Given the description of an element on the screen output the (x, y) to click on. 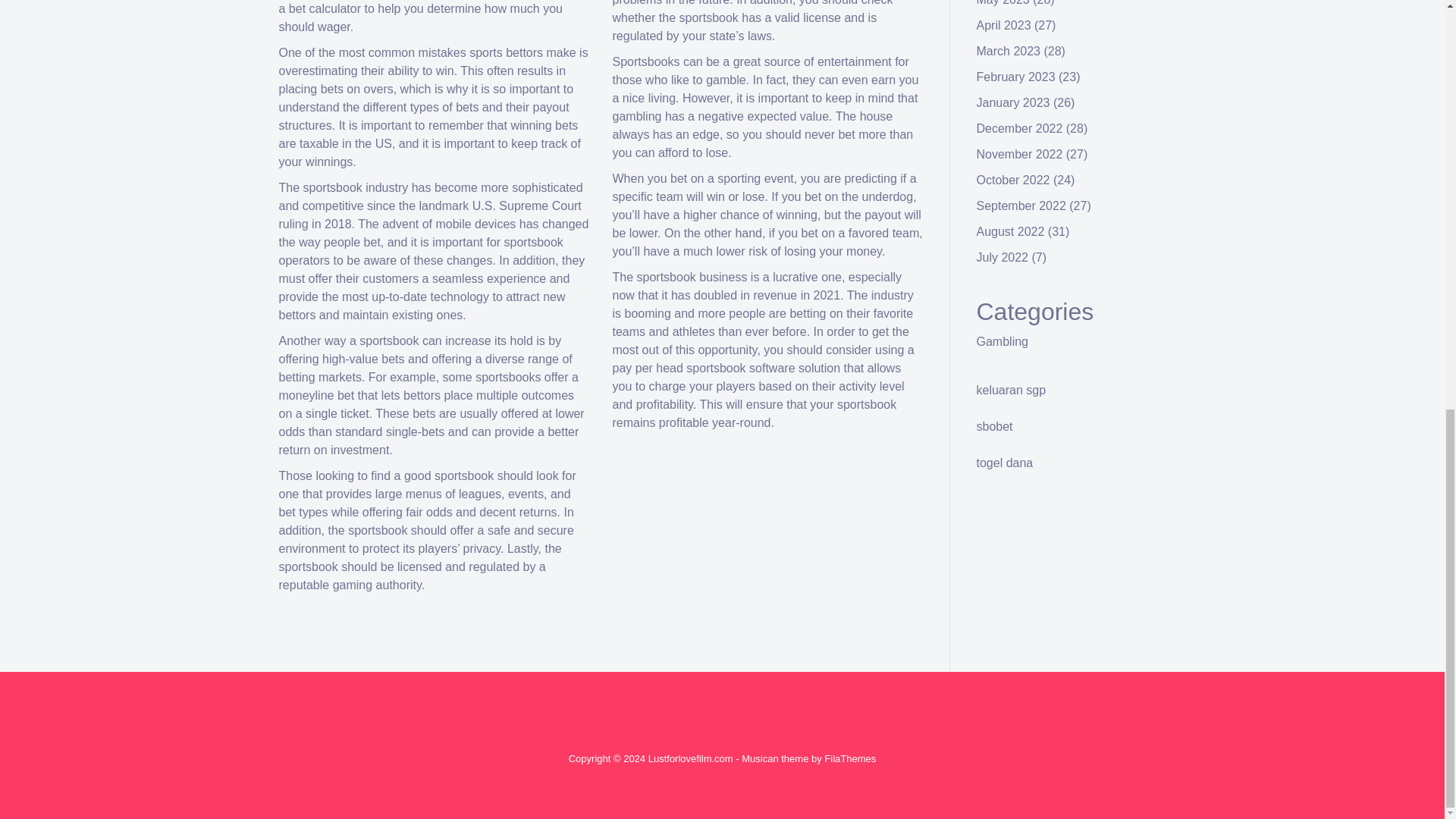
April 2023 (1003, 24)
February 2023 (1015, 76)
October 2022 (1012, 179)
March 2023 (1008, 51)
Lustforlovefilm.com (690, 758)
November 2022 (1019, 154)
December 2022 (1019, 128)
September 2022 (1020, 205)
January 2023 (1012, 102)
May 2023 (1002, 2)
